Given the description of an element on the screen output the (x, y) to click on. 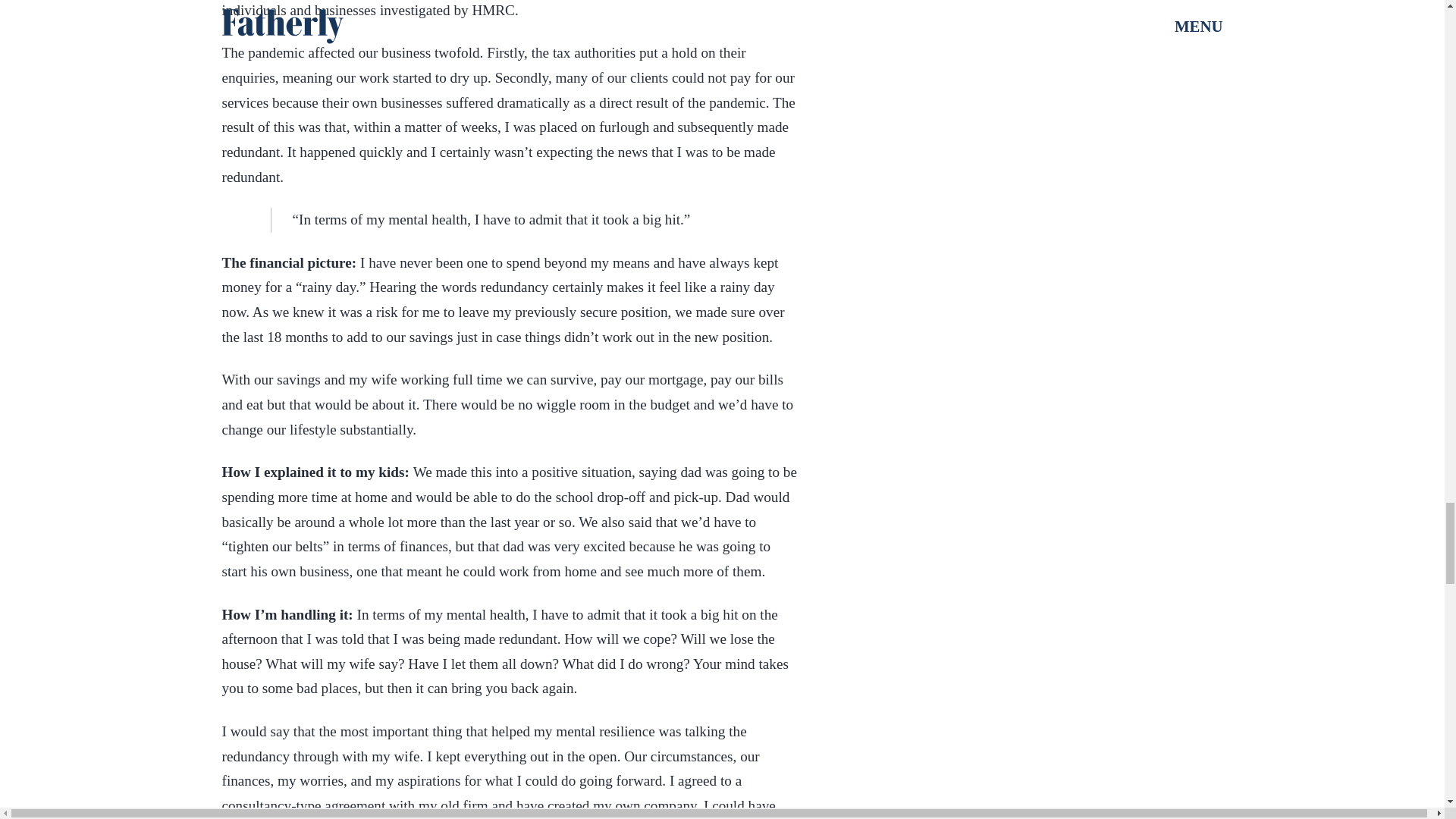
my own company (643, 805)
